Given the description of an element on the screen output the (x, y) to click on. 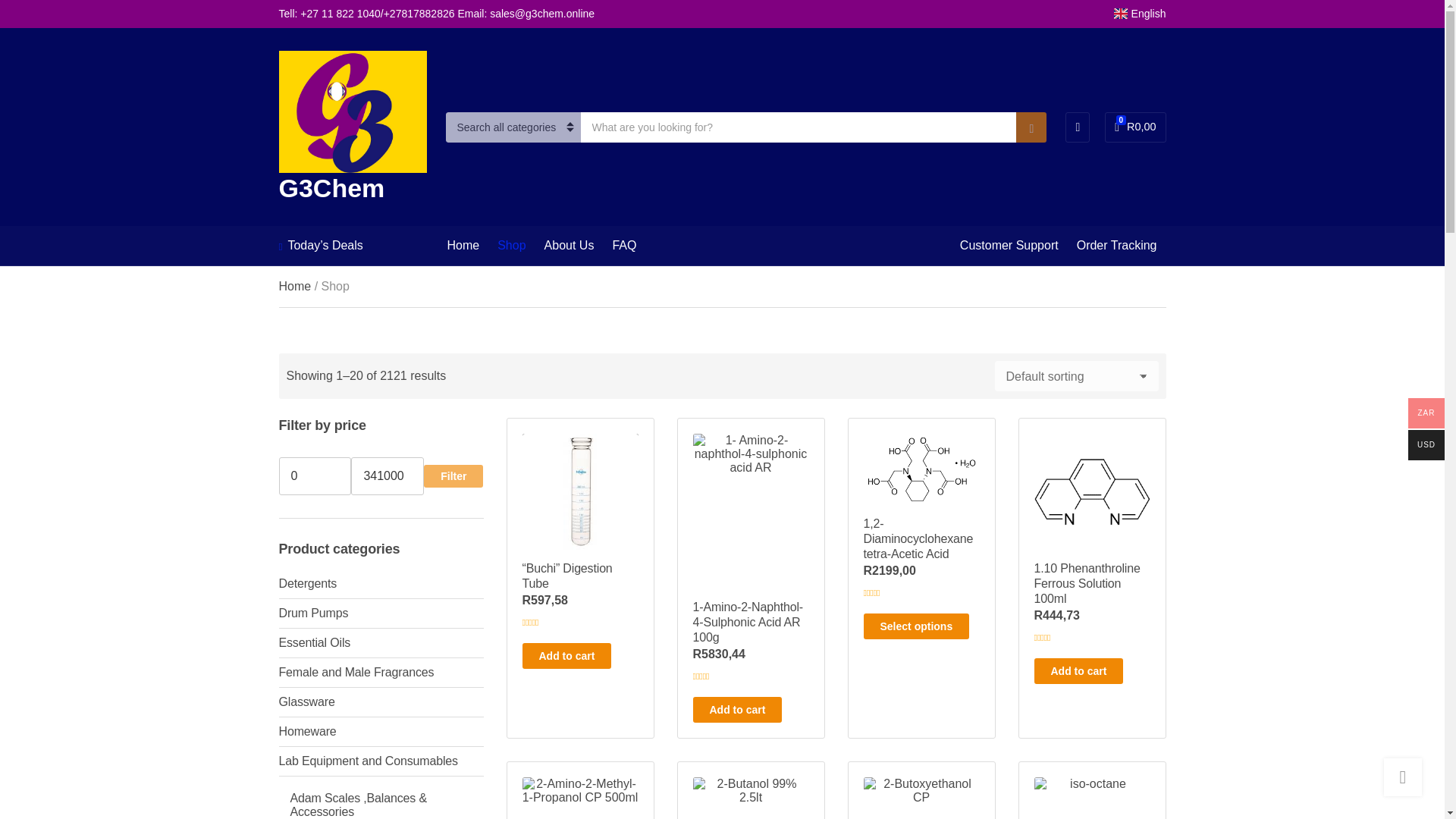
About Us (569, 245)
Search (1031, 127)
English (1139, 13)
Add to cart (1078, 670)
341000 (386, 476)
Order Tracking (1117, 245)
0 (579, 790)
Add to cart (315, 476)
Add to cart (566, 655)
Home (1135, 127)
Select options (738, 709)
Customer Support (295, 286)
G3Chem (916, 626)
